Given the description of an element on the screen output the (x, y) to click on. 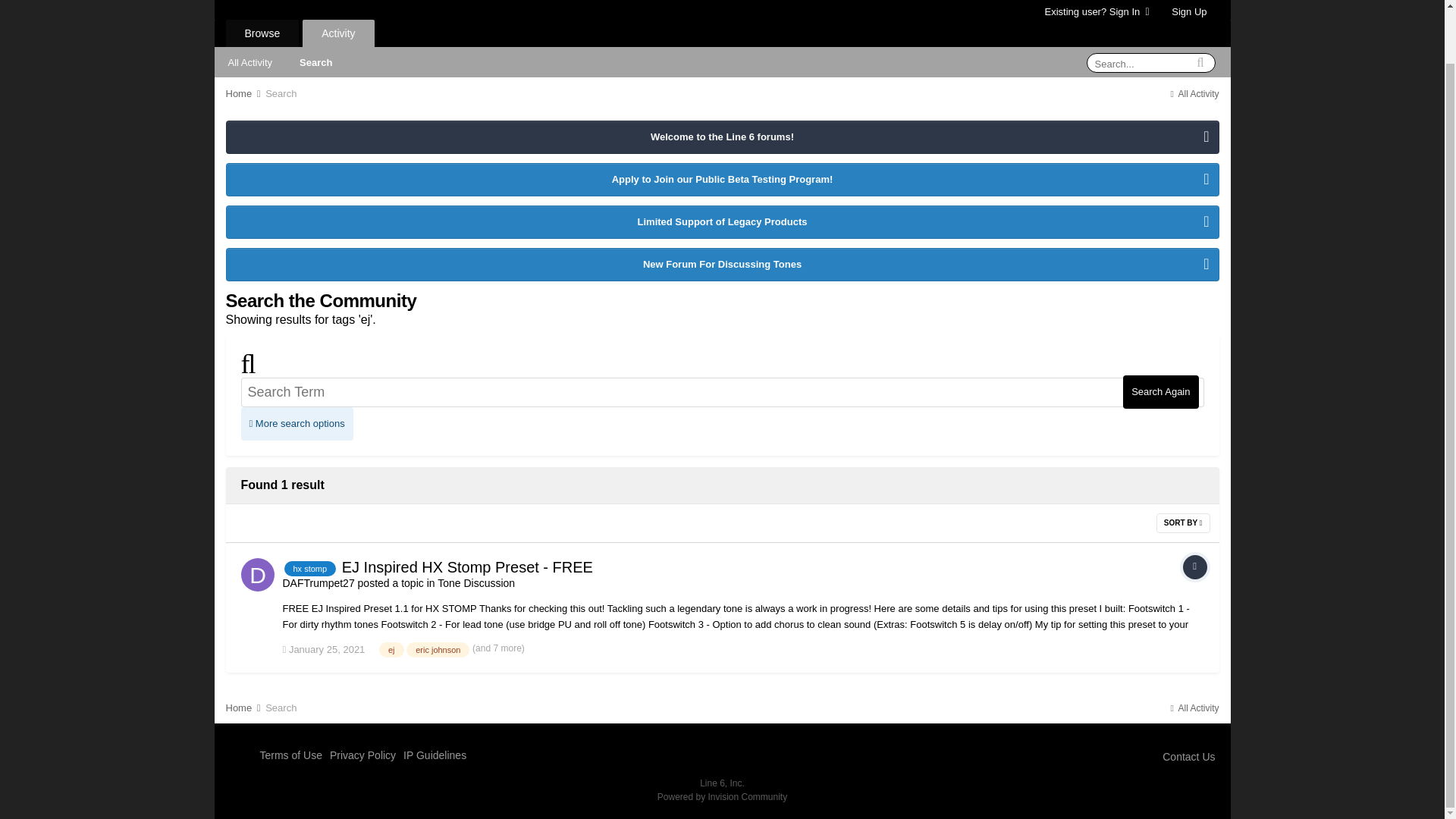
New Forum For Discussing Tones (721, 264)
Find other content tagged with 'ej' (391, 649)
Home (244, 93)
More search options (297, 423)
Search (315, 61)
Go to DAFTrumpet27's profile (258, 574)
Search (280, 93)
Topic (1194, 567)
All Activity (1192, 93)
Find other content tagged with 'eric johnson' (437, 649)
